Given the description of an element on the screen output the (x, y) to click on. 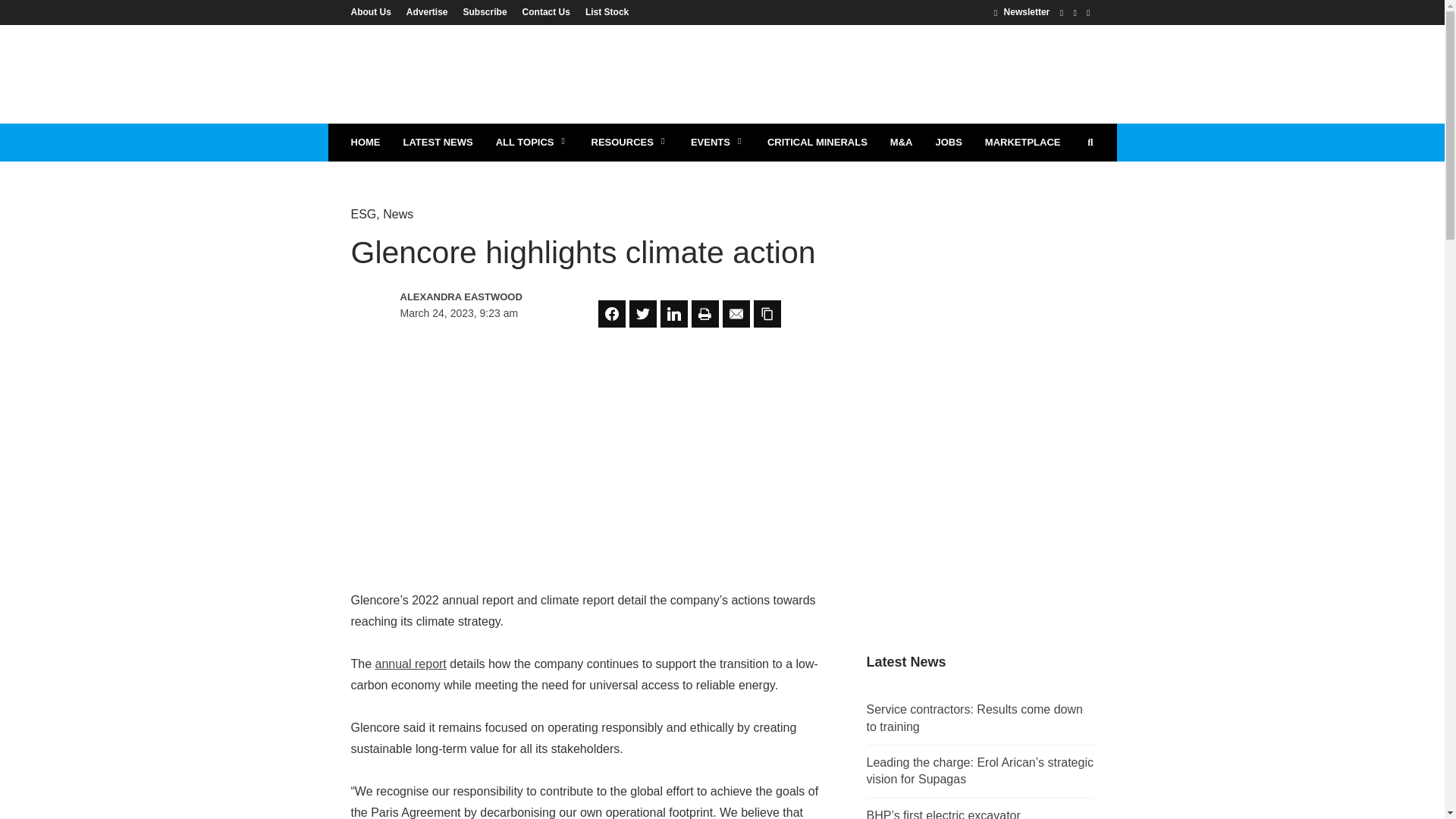
Share on Copy Link (767, 313)
LATEST NEWS (437, 142)
Contact Us (546, 11)
Subscribe (485, 11)
Share on Email (735, 313)
Newsletter (1021, 11)
Share on Facebook (612, 313)
About Us (373, 11)
Share on Print (705, 313)
View all posts by Alexandra Eastwood (465, 296)
